Given the description of an element on the screen output the (x, y) to click on. 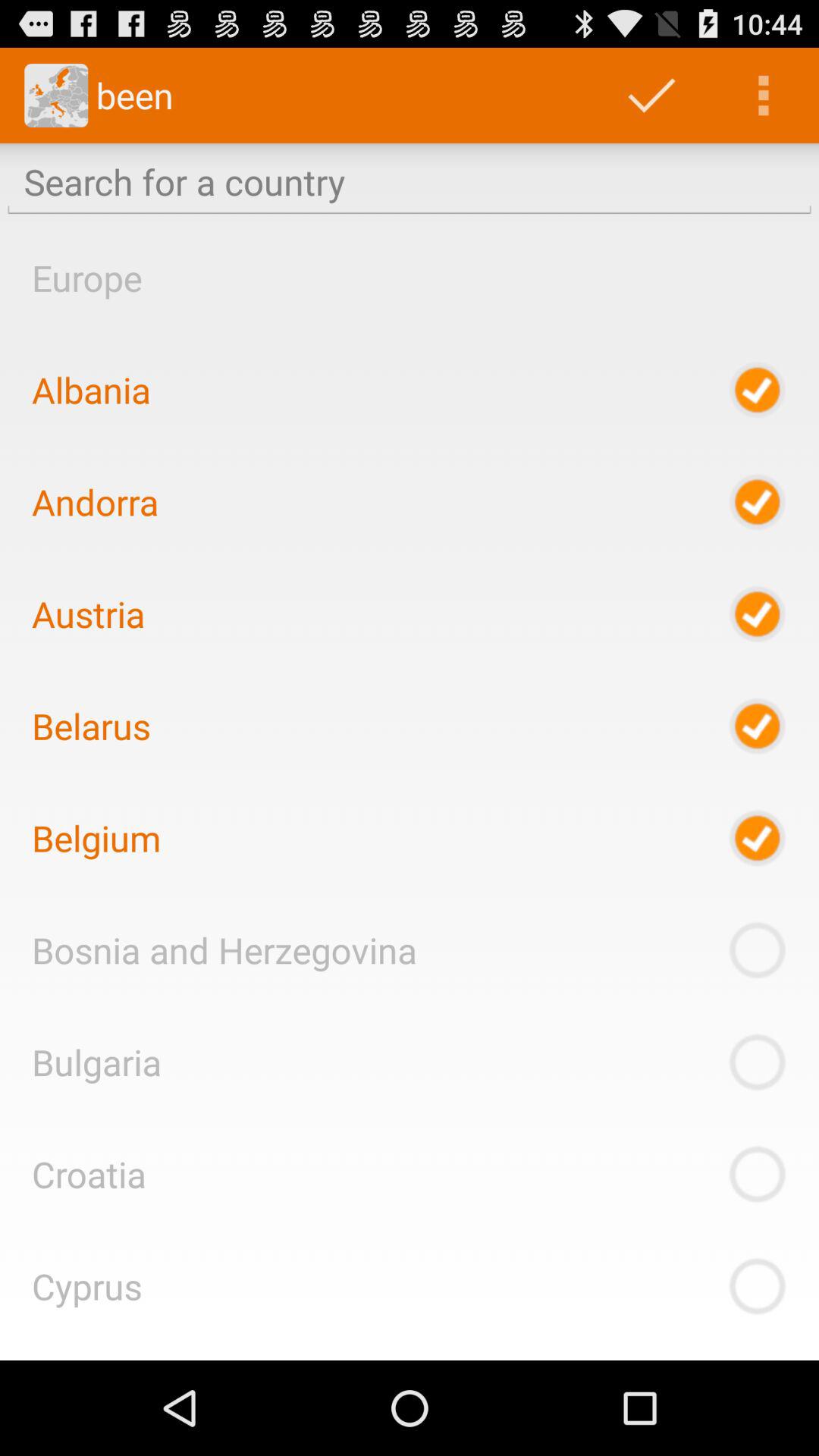
launch bosnia and herzegovina item (223, 949)
